Given the description of an element on the screen output the (x, y) to click on. 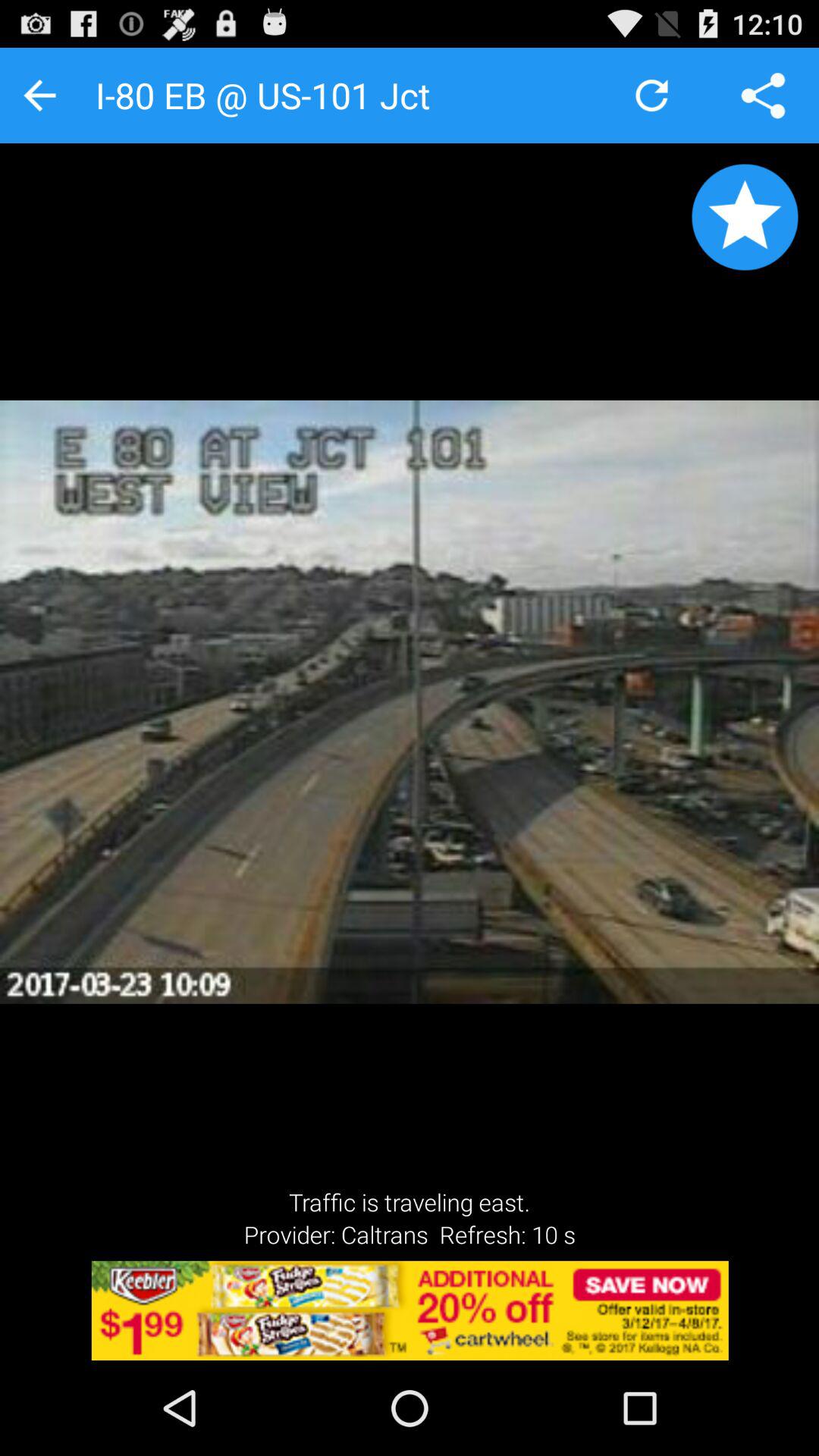
go to advertiser site (409, 1310)
